Given the description of an element on the screen output the (x, y) to click on. 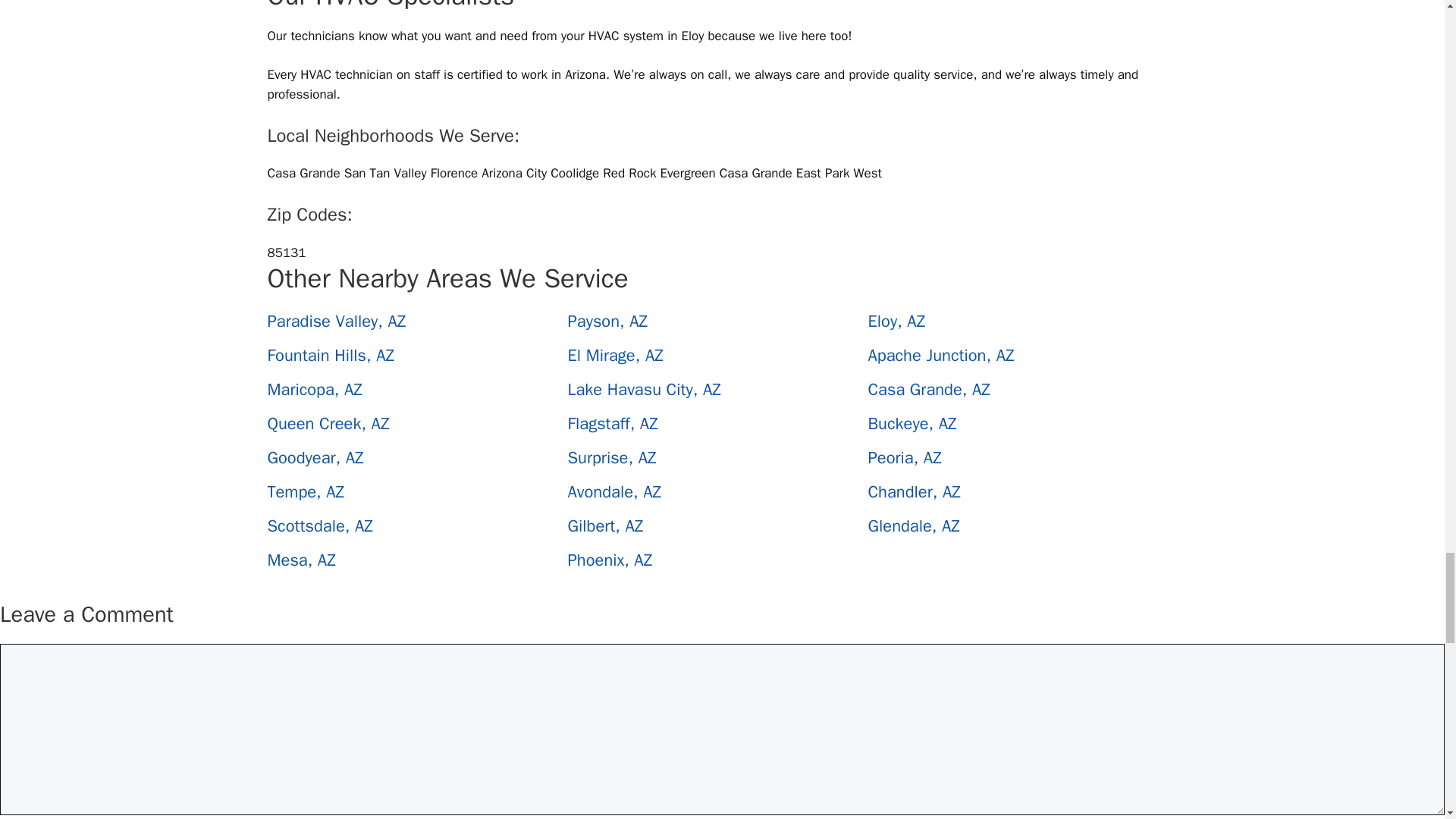
Payson, AZ (607, 321)
Queen Creek, AZ (327, 423)
Maricopa, AZ (314, 389)
Eloy, AZ (895, 321)
El Mirage, AZ (615, 355)
Lake Havasu City, AZ (643, 389)
Casa Grande, AZ (928, 389)
Fountain Hills, AZ (330, 355)
Paradise Valley, AZ (336, 321)
Apache Junction, AZ (940, 355)
